Given the description of an element on the screen output the (x, y) to click on. 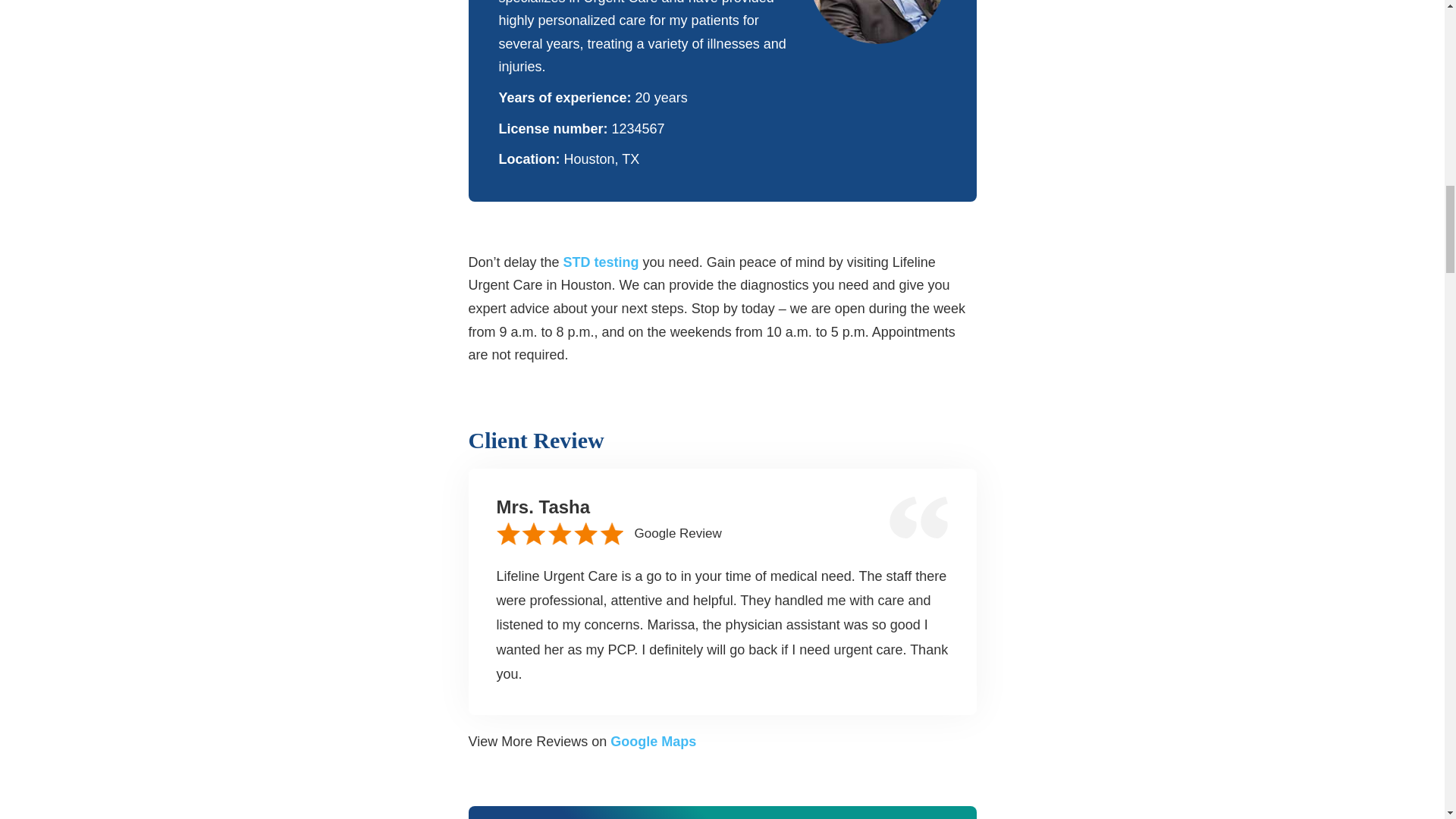
Google Maps (652, 741)
STD testing (599, 262)
